Given the description of an element on the screen output the (x, y) to click on. 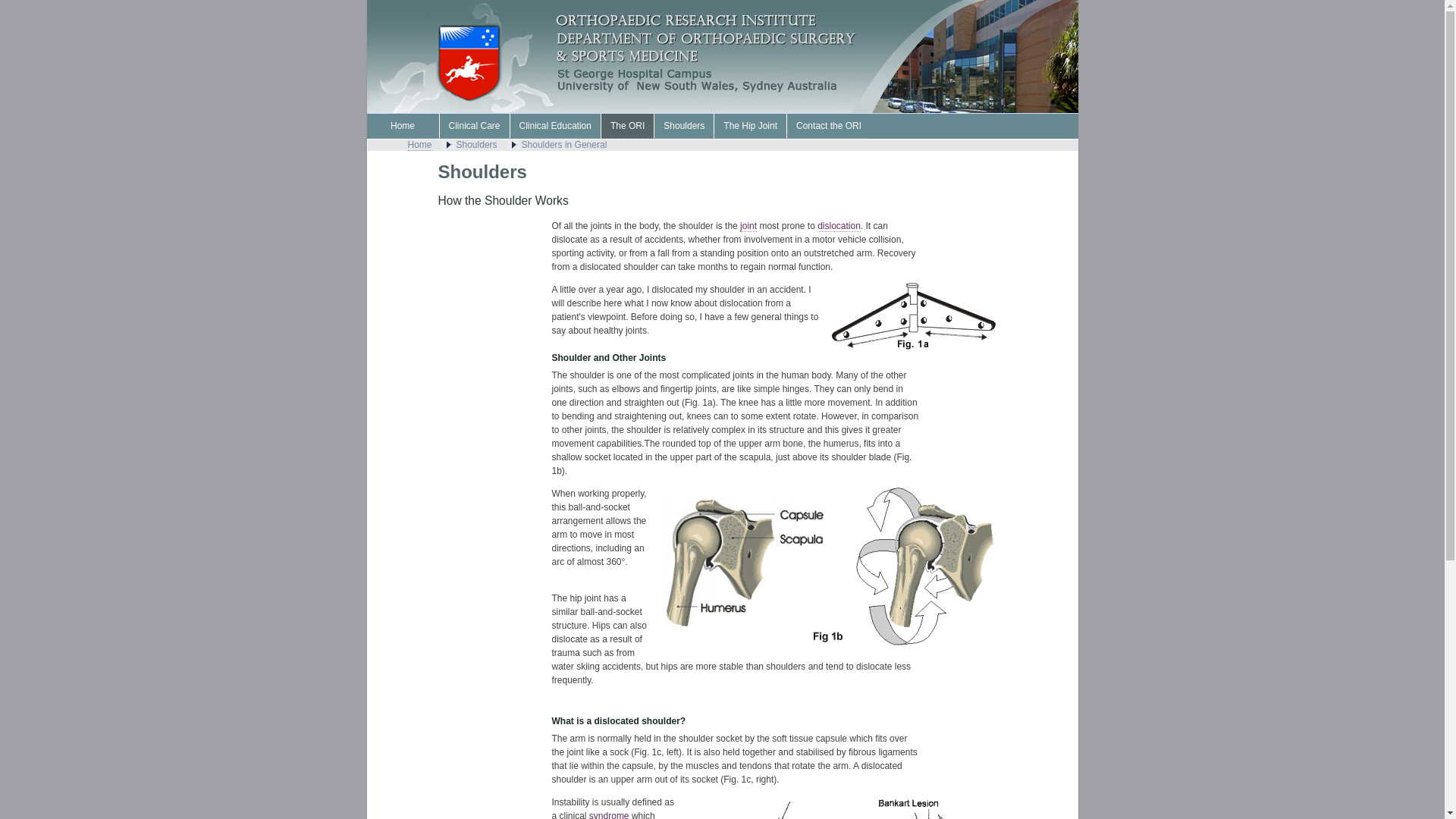
Home Element type: text (419, 144)
Home Element type: text (403, 125)
joint Element type: text (748, 226)
Shoulders Element type: text (683, 125)
Contact the ORI Element type: text (828, 125)
Clinical Care Element type: text (473, 125)
The Hip Joint Element type: text (749, 125)
The ORI Element type: text (626, 125)
Clinical Education Element type: text (554, 125)
dislocation Element type: text (838, 226)
